Given the description of an element on the screen output the (x, y) to click on. 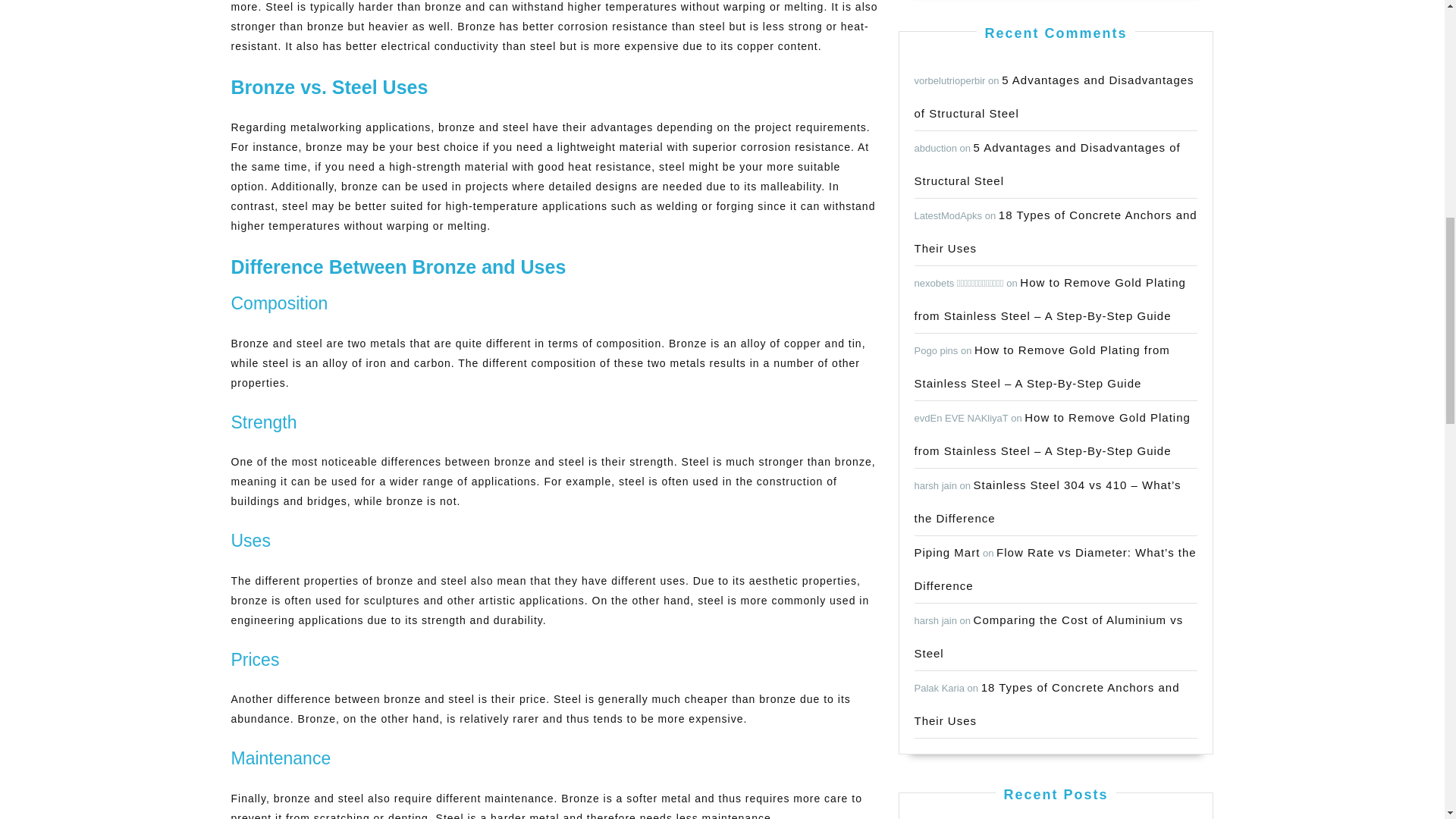
Piping Mart (946, 552)
18 Types of Concrete Anchors and Their Uses (1055, 231)
5 Advantages and Disadvantages of Structural Steel (1053, 96)
5 Advantages and Disadvantages of Structural Steel (1047, 163)
